Given the description of an element on the screen output the (x, y) to click on. 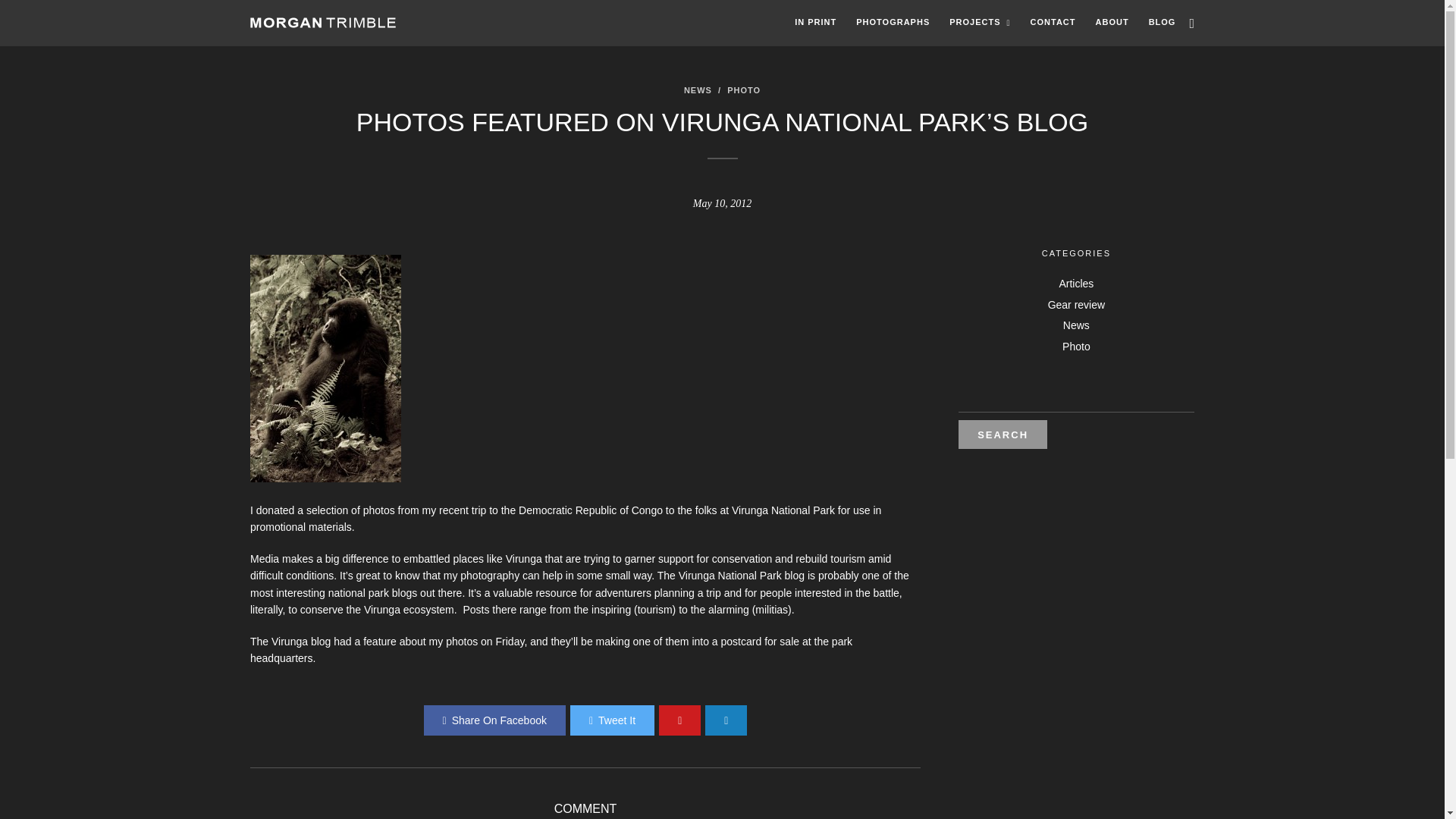
Gear review (1076, 304)
NEWS (697, 90)
Tweet It (611, 720)
Photo (1076, 346)
PHOTOGRAPHS (892, 23)
PHOTO (743, 90)
IN PRINT (814, 23)
ABOUT (1112, 23)
BLOG (1162, 23)
CONTACT (1053, 23)
